Given the description of an element on the screen output the (x, y) to click on. 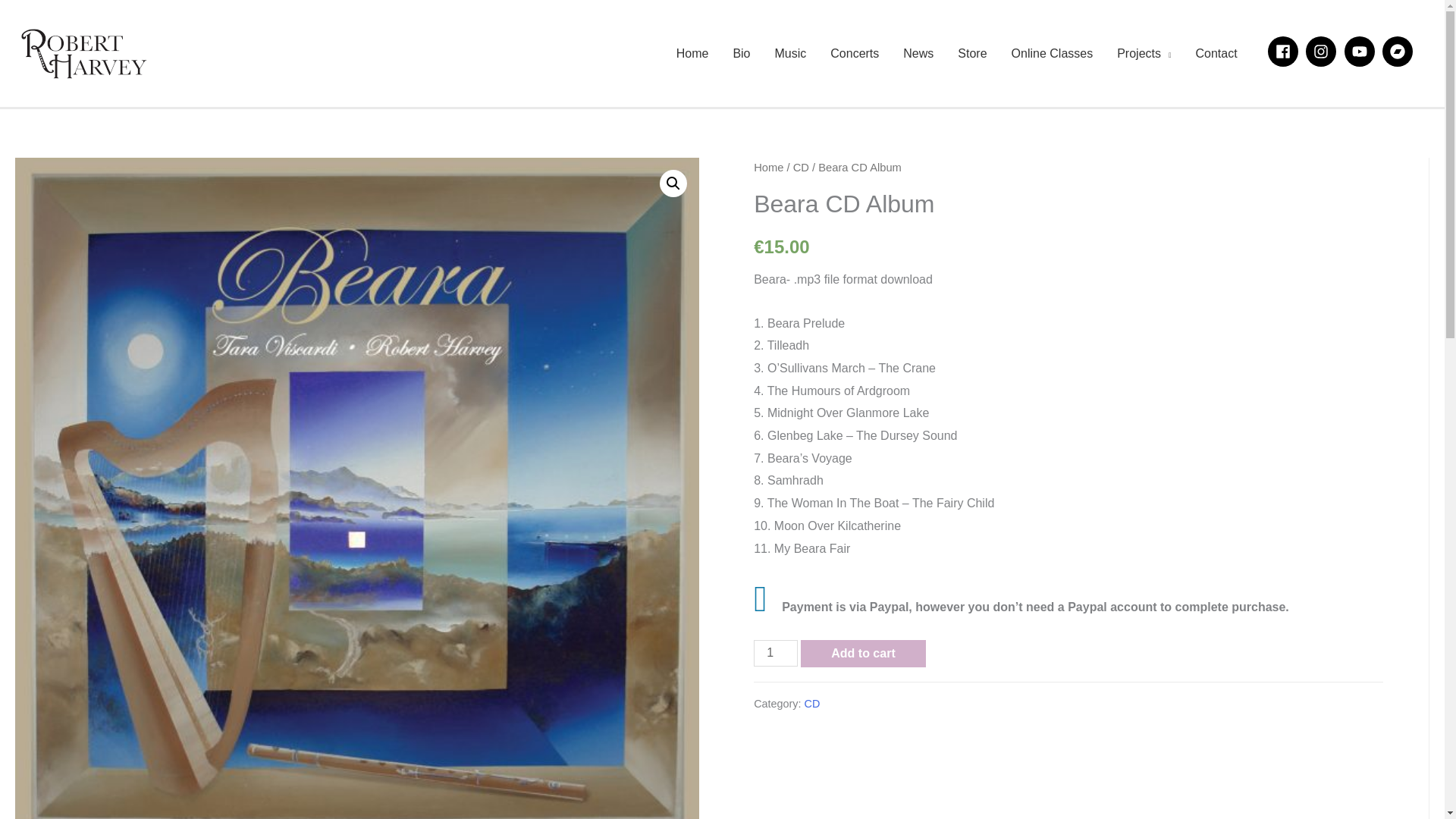
Home (691, 52)
Add to cart (862, 653)
1 (775, 652)
Online Classes (1051, 52)
Music (790, 52)
Projects (1143, 52)
CD (801, 167)
Concerts (854, 52)
Contact (1215, 52)
Home (768, 167)
CD (813, 703)
News (917, 52)
Store (971, 52)
Qty (775, 652)
